Given the description of an element on the screen output the (x, y) to click on. 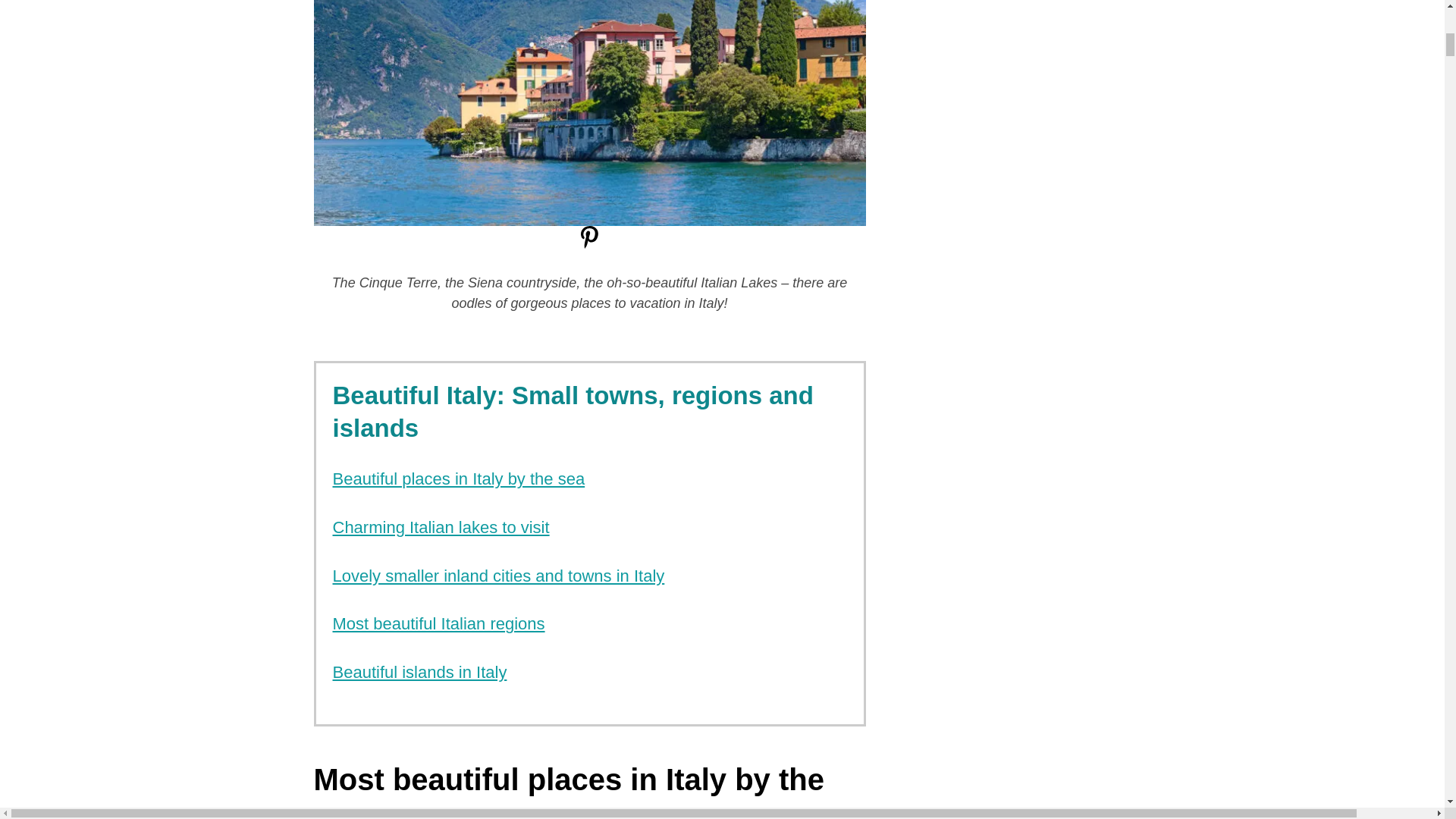
Save (589, 244)
